Given the description of an element on the screen output the (x, y) to click on. 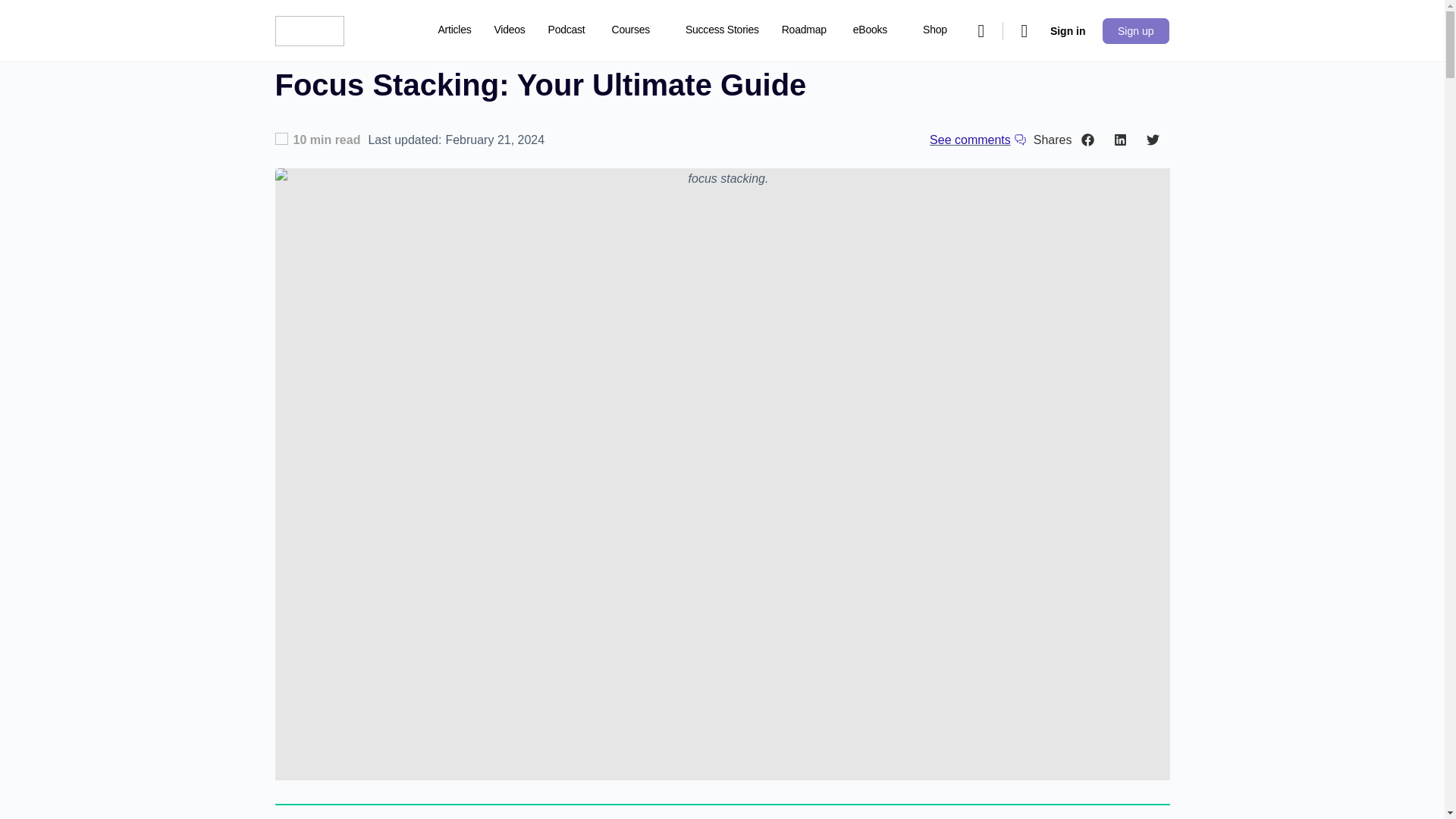
Success Stories (722, 30)
Sign in (1067, 30)
Sign up (1135, 30)
eBooks (876, 30)
Courses (636, 30)
Roadmap (804, 30)
Trend Report 2024 (480, 91)
